Given the description of an element on the screen output the (x, y) to click on. 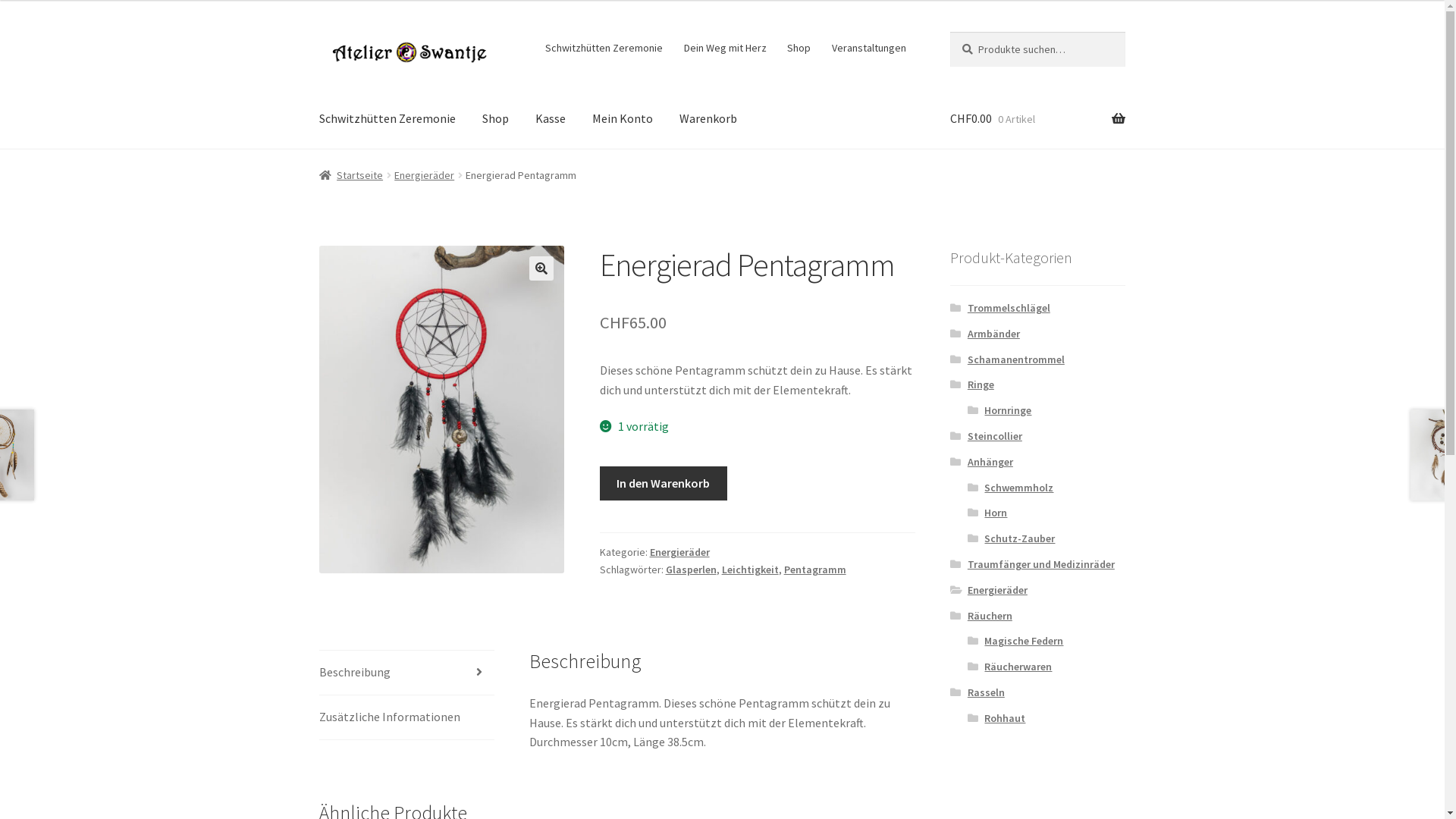
Rohhaut Element type: text (1004, 717)
Leichtigkeit Element type: text (749, 569)
Dein Weg mit Herz Element type: text (724, 47)
In den Warenkorb Element type: text (663, 483)
Steincollier Element type: text (994, 435)
Pentagramm Element type: text (815, 569)
Schamanentrommel Element type: text (1015, 359)
Kasse Element type: text (550, 118)
Startseite Element type: text (351, 175)
Schutz-Zauber Element type: text (1019, 538)
Warenkorb Element type: text (708, 118)
Rasseln Element type: text (985, 692)
Magische Federn Element type: text (1023, 640)
Schwemmholz Element type: text (1018, 487)
Shop Element type: text (495, 118)
Beschreibung Element type: text (406, 672)
Ringe Element type: text (980, 384)
Mein Konto Element type: text (622, 118)
Shop Element type: text (799, 47)
Suche Element type: text (949, 31)
Horn Element type: text (995, 512)
CHF0.00 0 Artikel Element type: text (1037, 118)
Hornringe Element type: text (1007, 410)
Glasperlen Element type: text (690, 569)
Veranstaltungen Element type: text (868, 47)
Medizinrad Pentagramm Element type: hover (441, 409)
